Given the description of an element on the screen output the (x, y) to click on. 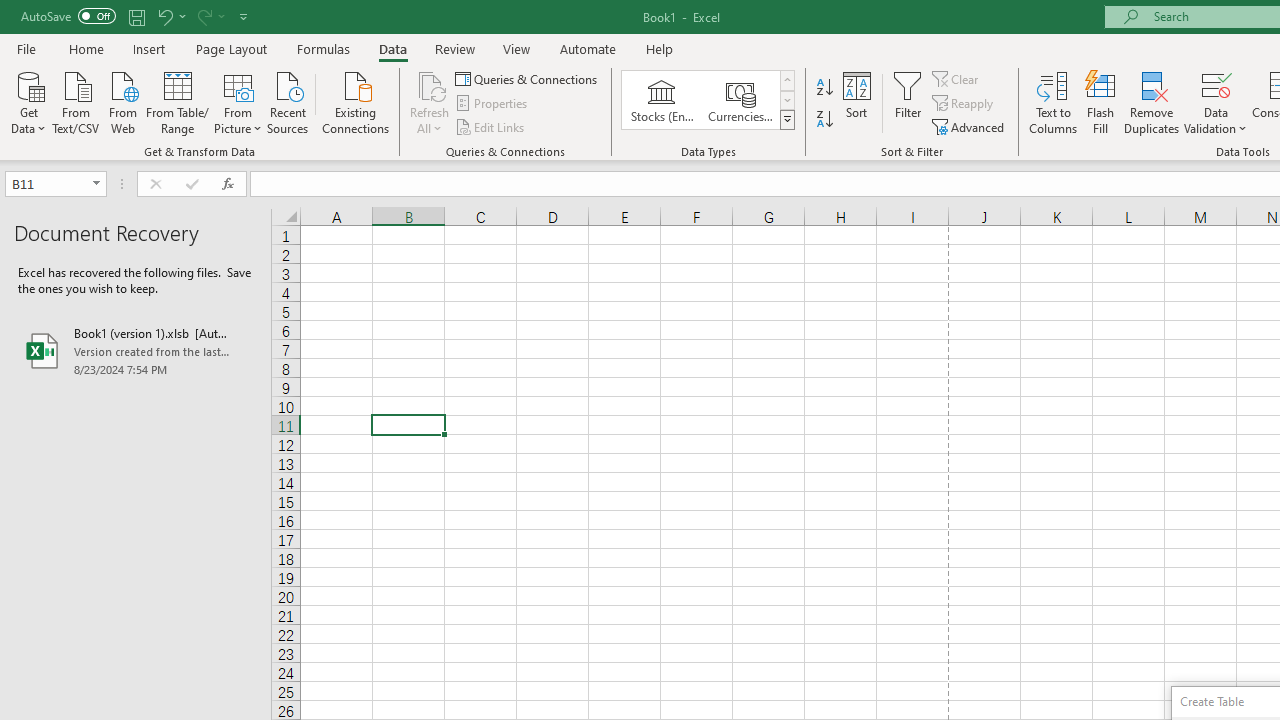
From Text/CSV (75, 101)
View (517, 48)
Currencies (English) (740, 100)
Data Validation... (1215, 102)
Page Layout (230, 48)
Sort Z to A (824, 119)
From Picture (238, 101)
Get Data (28, 101)
Data Validation... (1215, 84)
Undo (164, 15)
Review (454, 48)
Refresh All (429, 102)
System (10, 11)
Remove Duplicates (1151, 102)
Properties (492, 103)
